Given the description of an element on the screen output the (x, y) to click on. 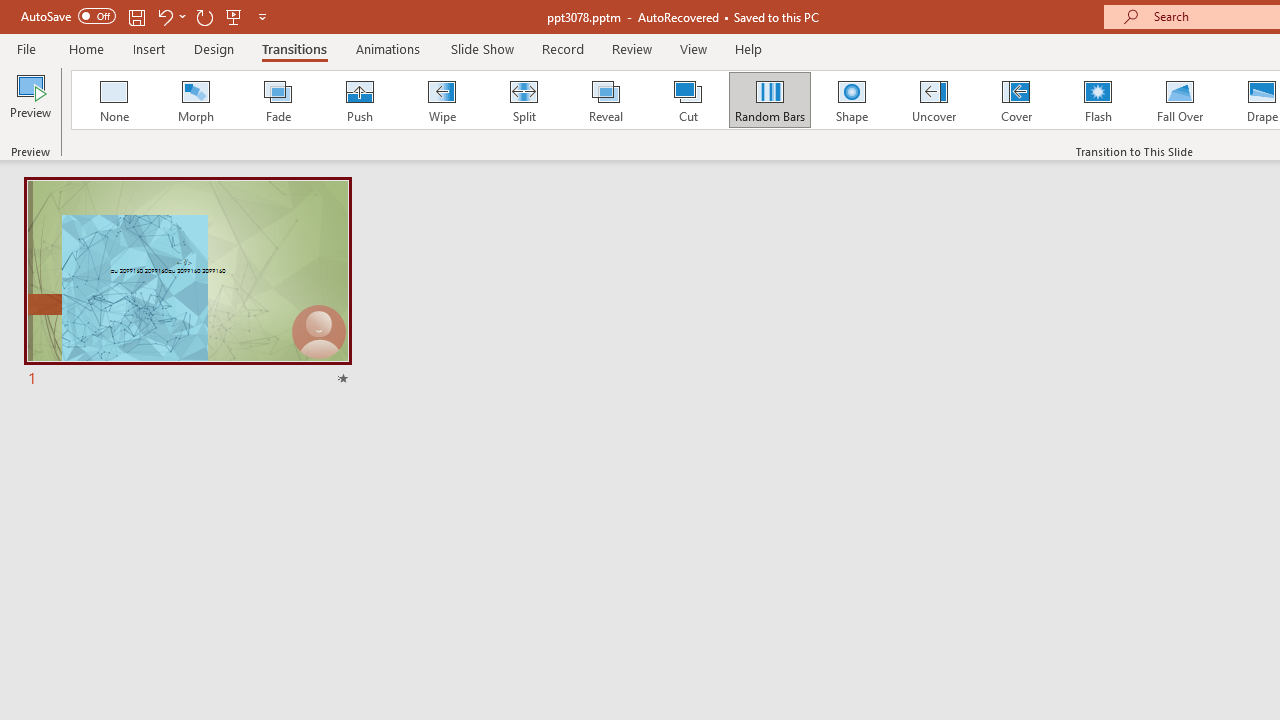
Push (359, 100)
